Given the description of an element on the screen output the (x, y) to click on. 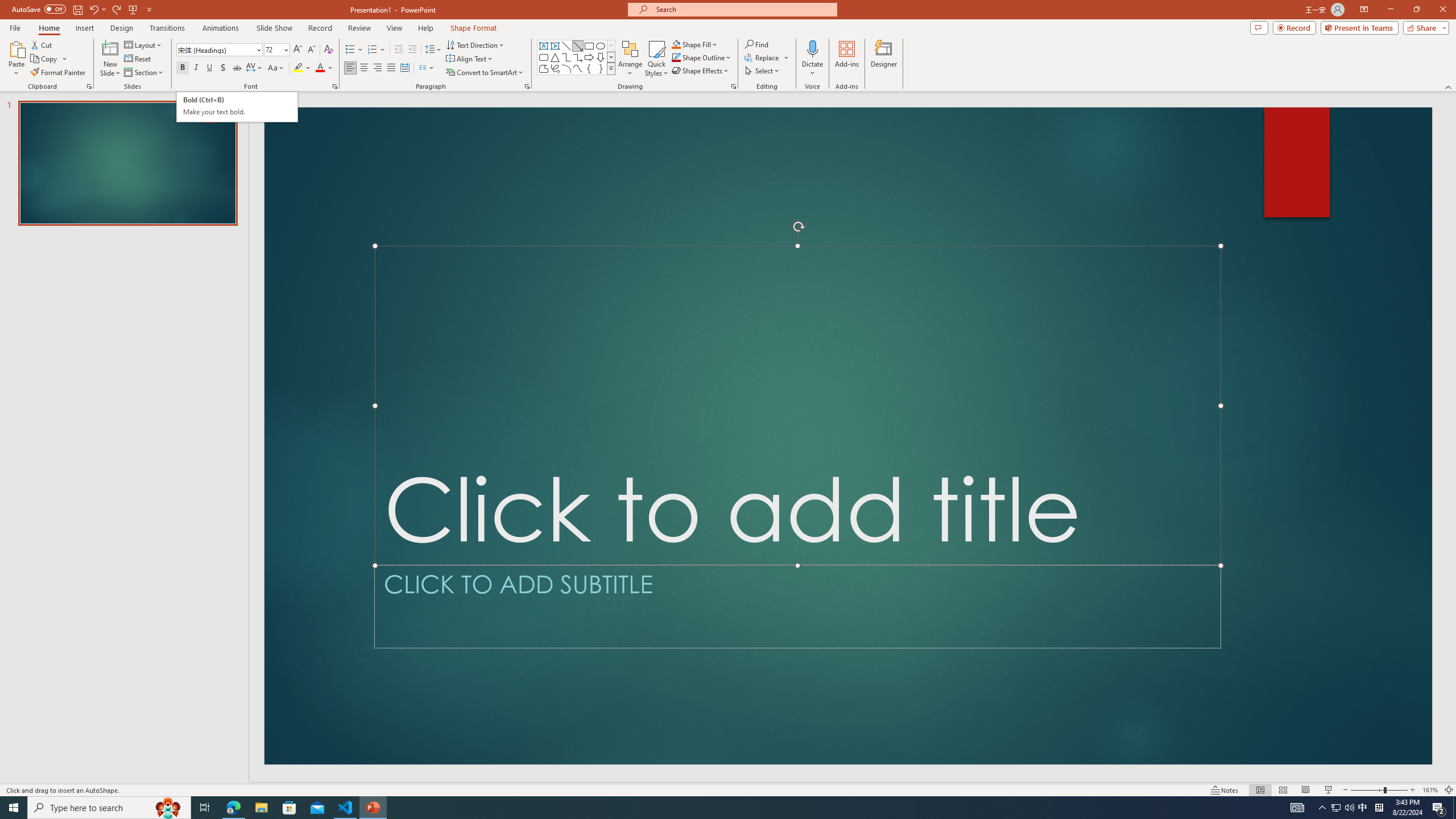
Microsoft search (742, 9)
Font Size (276, 49)
Office Clipboard... (88, 85)
Font Size (273, 49)
Font Color (324, 67)
Bullets (349, 49)
Format Object... (733, 85)
Font (215, 49)
Line Spacing (433, 49)
Shape Fill Orange, Accent 2 (675, 44)
Class: NetUIImage (610, 68)
Increase Font Size (297, 49)
